Given the description of an element on the screen output the (x, y) to click on. 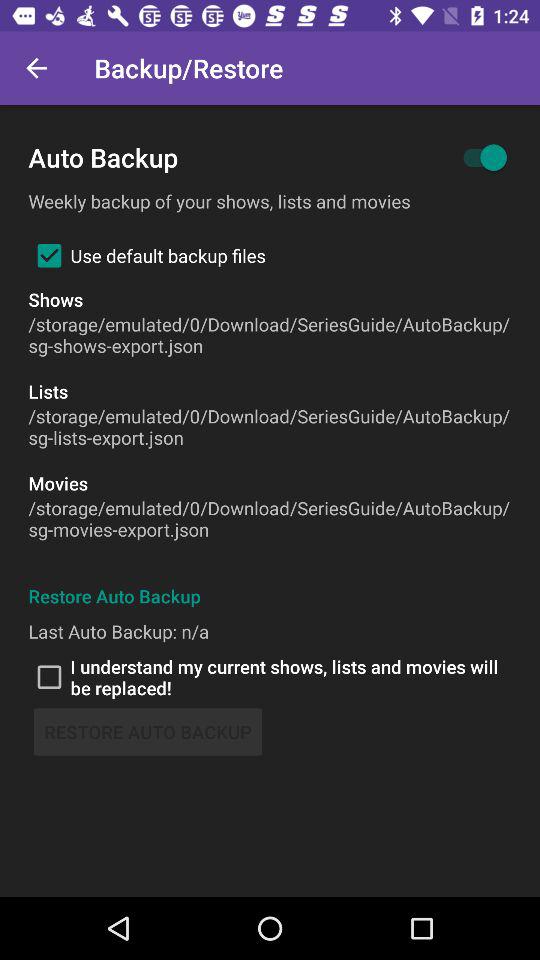
click the icon below the weekly backup of (146, 255)
